Given the description of an element on the screen output the (x, y) to click on. 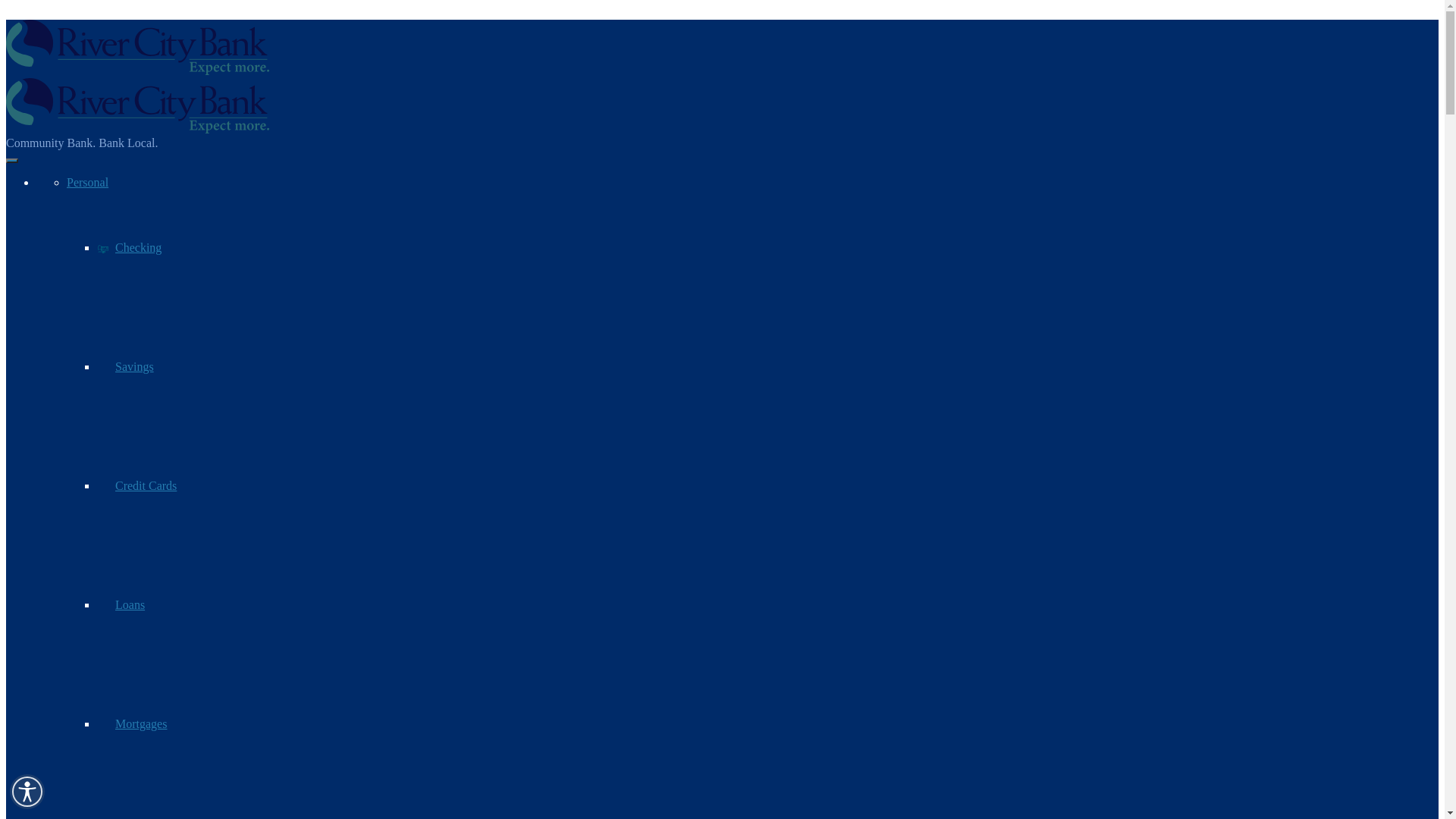
Menu Element type: text (12, 160)
Skip to the content Element type: text (6, 5)
Savings Element type: text (125, 366)
Personal Element type: text (87, 181)
Checking Element type: text (129, 247)
Loans Element type: text (120, 604)
Credit Cards Element type: text (136, 485)
Mortgages Element type: text (131, 723)
